Given the description of an element on the screen output the (x, y) to click on. 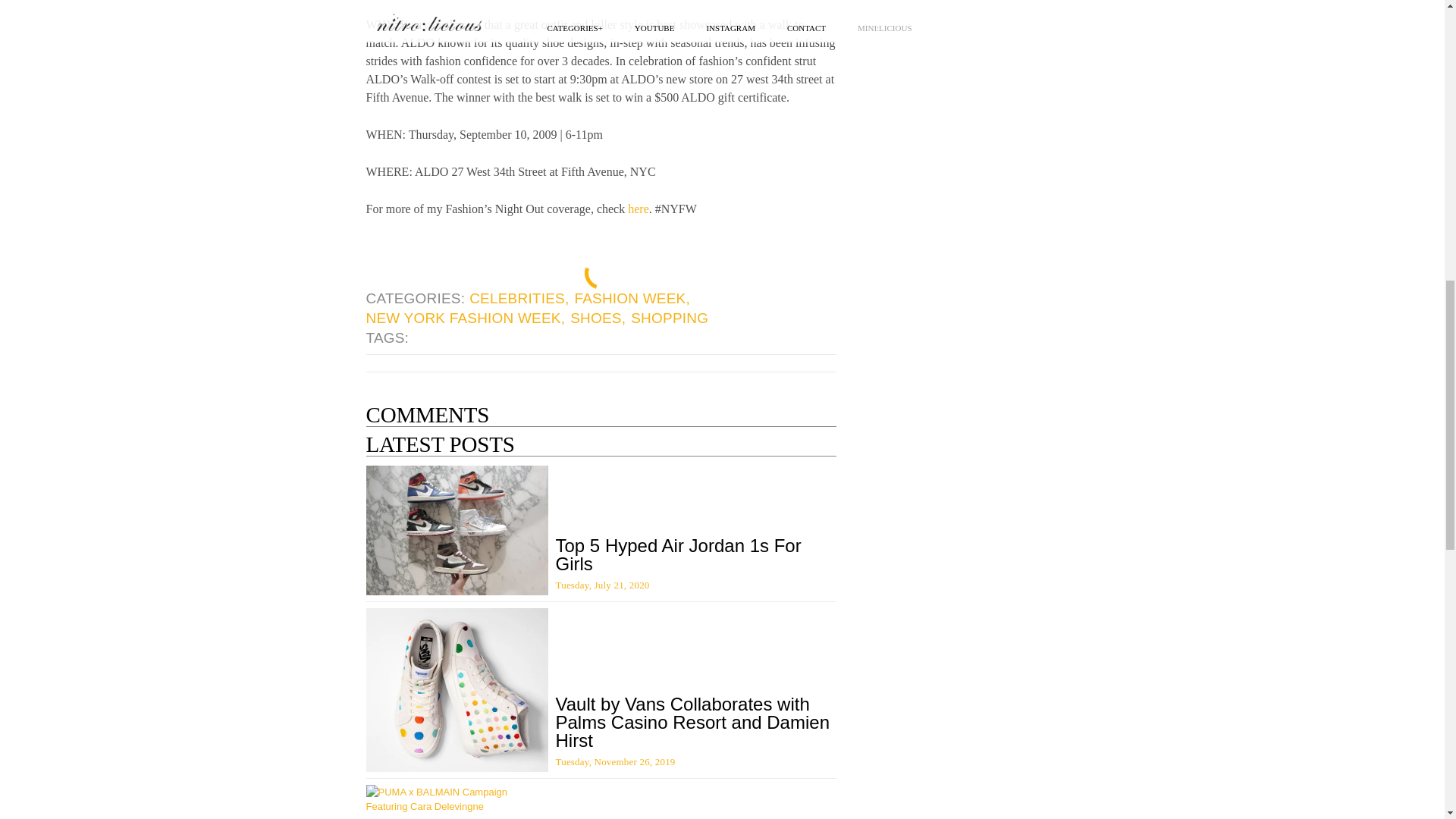
here (638, 208)
NEW YORK FASHION WEEK (466, 317)
FASHION WEEK (633, 298)
Top 5 Hyped Air Jordan 1s For Girls (677, 554)
SHOPPING (670, 317)
CELEBRITIES (519, 298)
SHOES (598, 317)
